Given the description of an element on the screen output the (x, y) to click on. 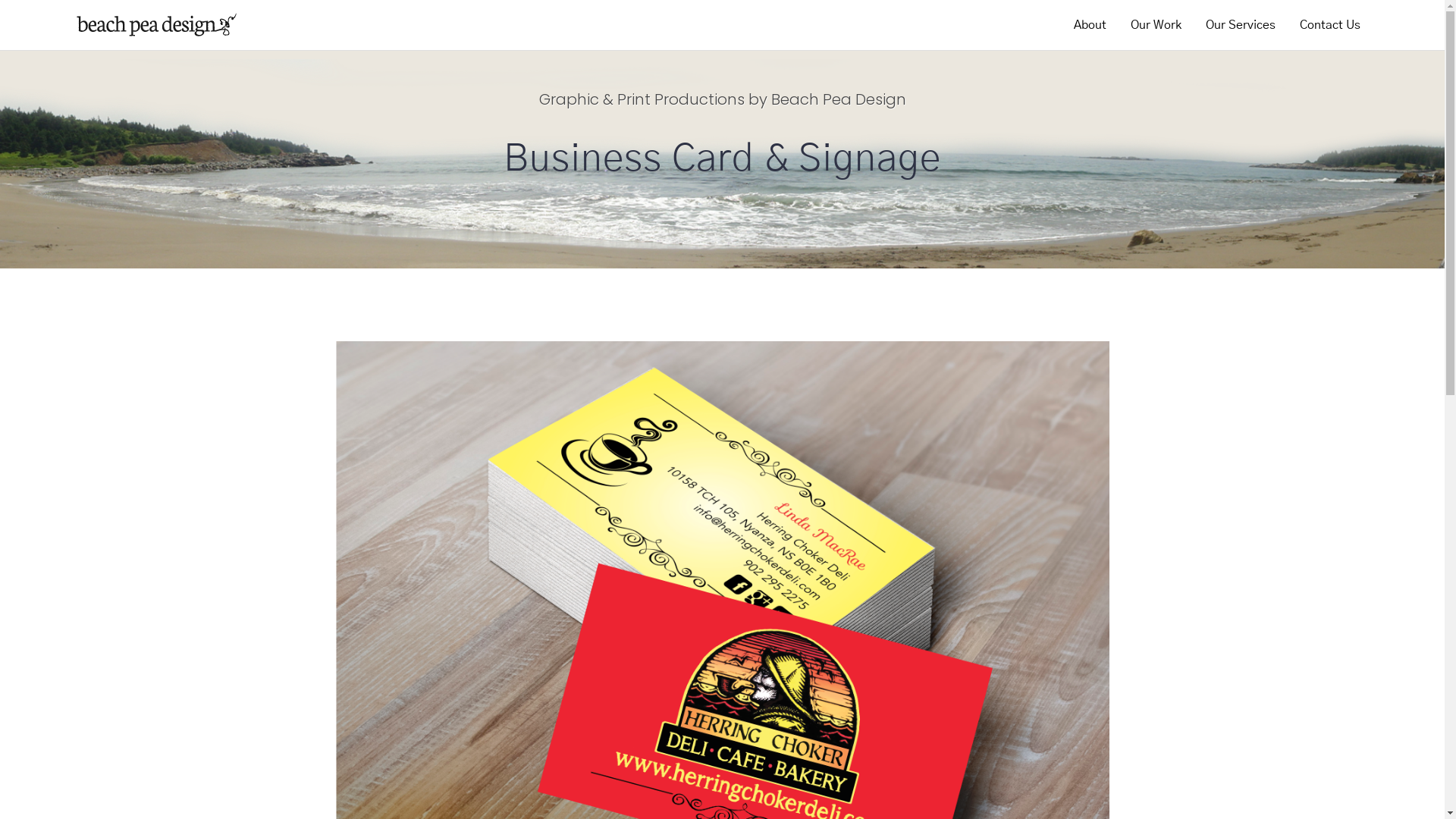
Contact Us Element type: text (1329, 24)
Our Work Element type: text (1155, 24)
Our Services Element type: text (1240, 24)
About Element type: text (1089, 24)
